Given the description of an element on the screen output the (x, y) to click on. 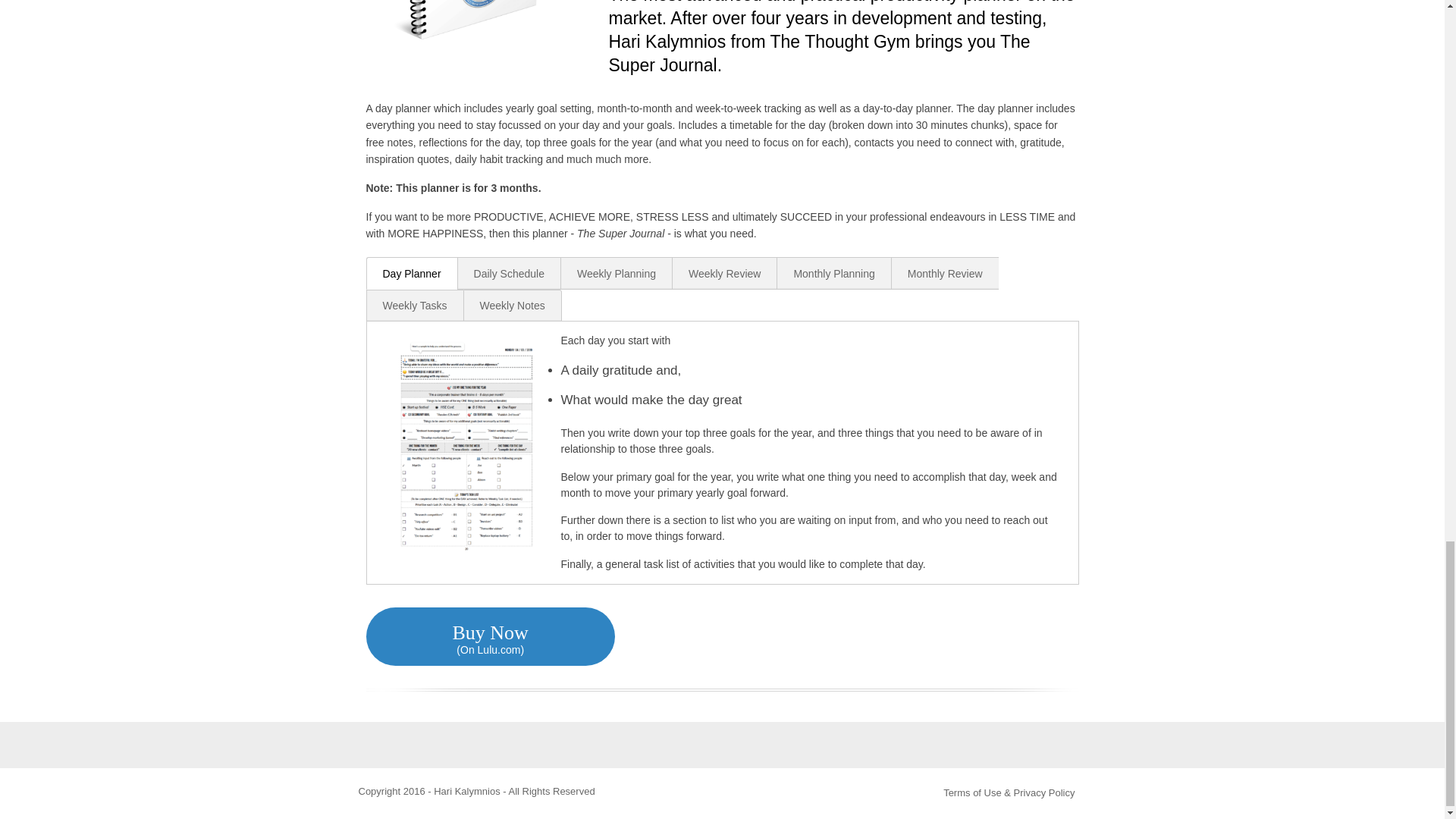
Weekly Planning (615, 273)
Daily Schedule (508, 273)
Monthly Planning (832, 273)
Weekly Notes (512, 305)
Weekly Review (723, 273)
Weekly Tasks (414, 305)
Day Planner (411, 273)
Monthly Review (944, 273)
